Given the description of an element on the screen output the (x, y) to click on. 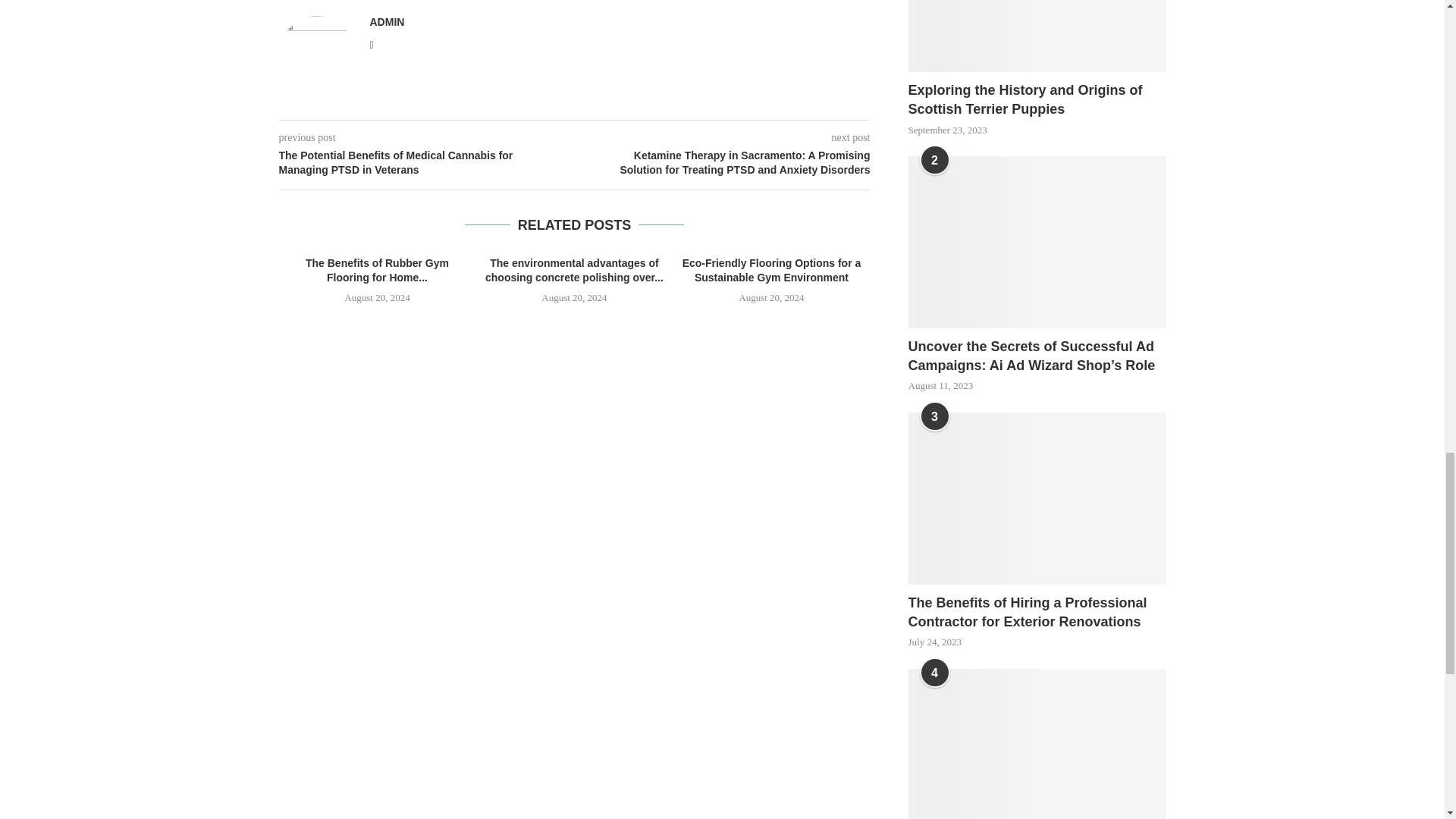
ADMIN (386, 21)
The Benefits of Rubber Gym Flooring for Home... (376, 270)
Author admin (386, 21)
